Given the description of an element on the screen output the (x, y) to click on. 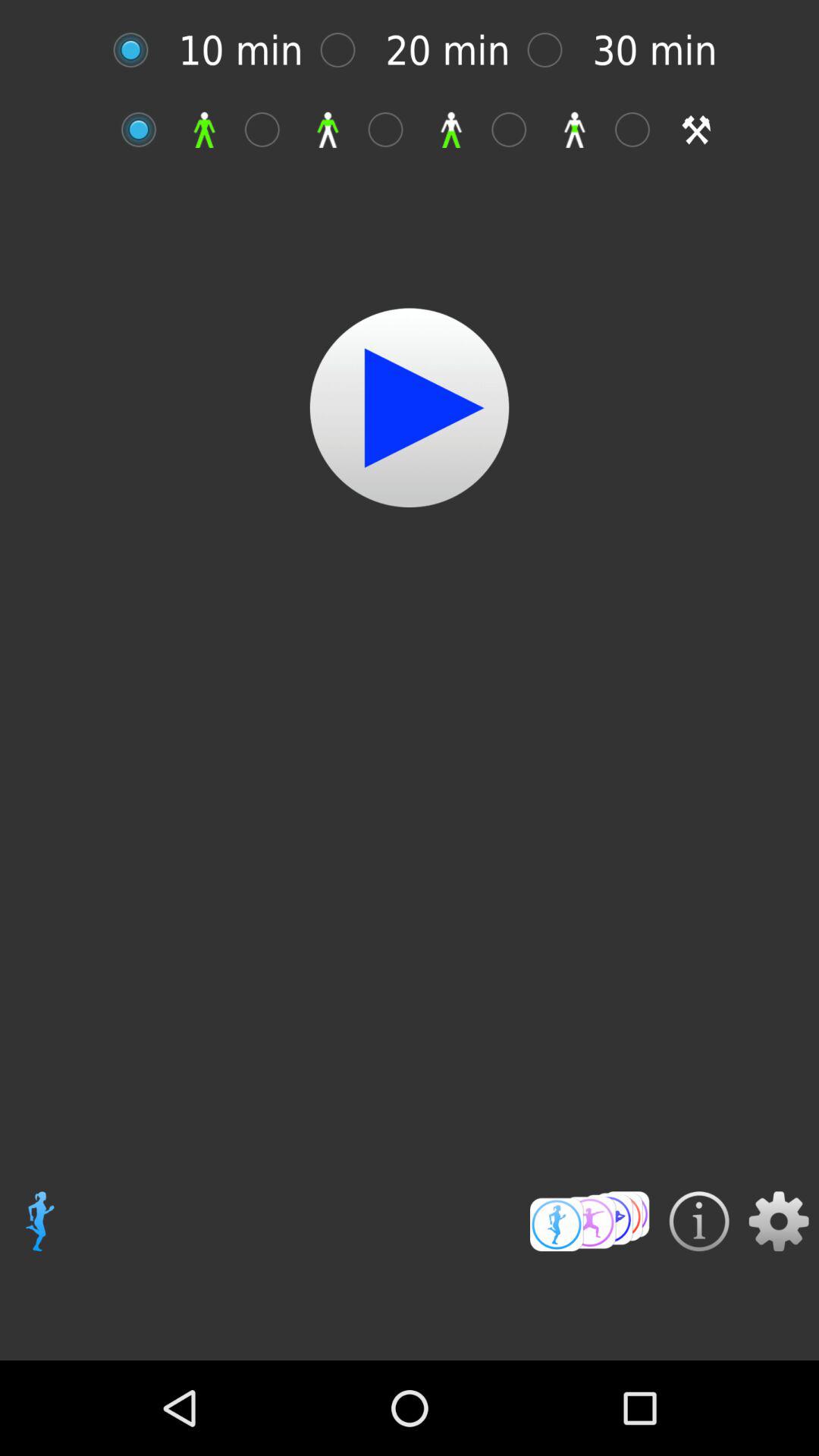
setting (778, 1221)
